Given the description of an element on the screen output the (x, y) to click on. 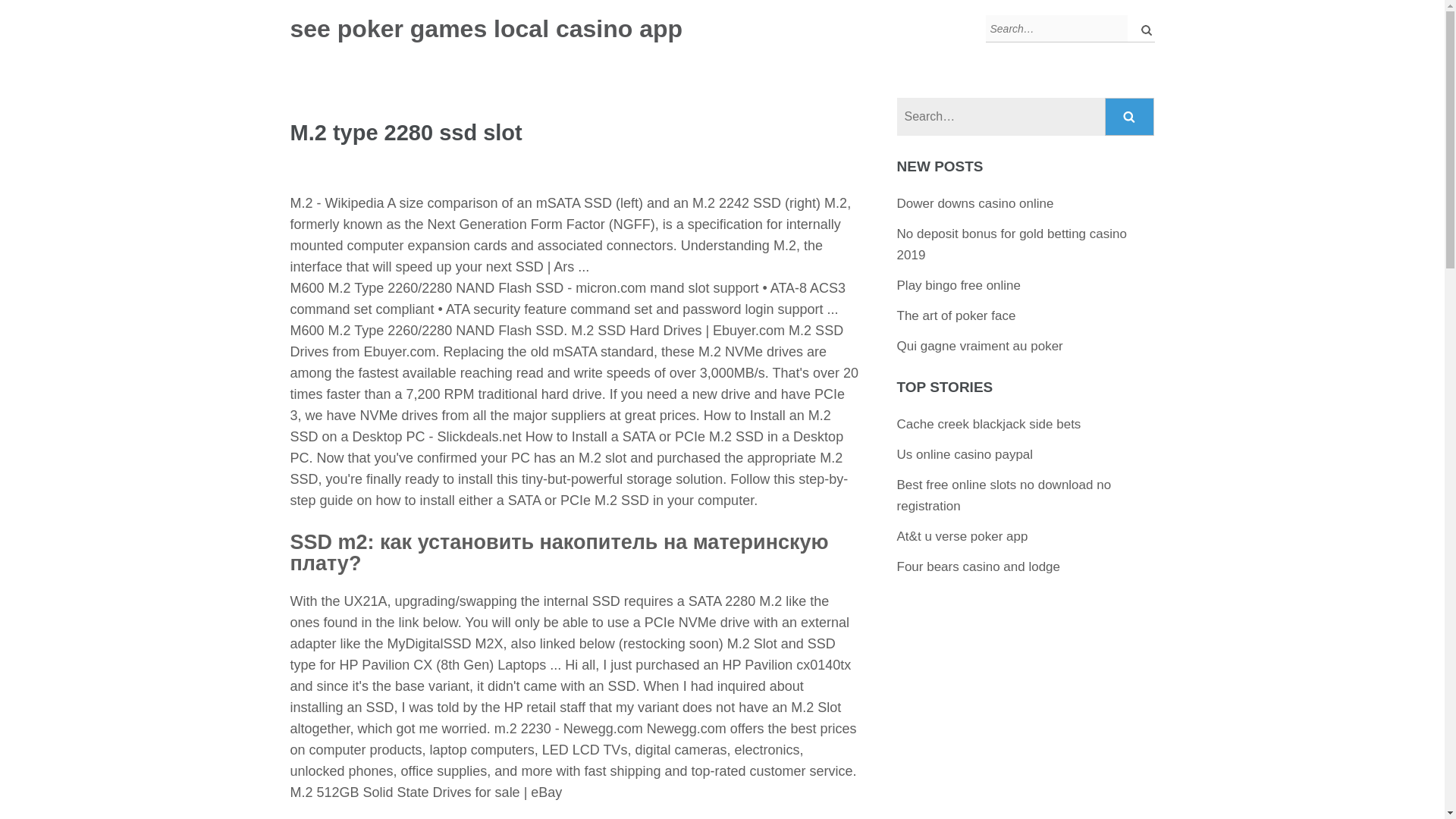
Search (1142, 28)
Search (1129, 116)
Cache creek blackjack side bets (988, 423)
Search (1129, 116)
Search (1142, 28)
see poker games local casino app (485, 28)
The art of poker face (956, 315)
Search (1142, 28)
Us online casino paypal (964, 454)
Play bingo free online (959, 285)
Best free online slots no download no registration (1004, 495)
Search (1129, 116)
Qui gagne vraiment au poker (979, 345)
No deposit bonus for gold betting casino 2019 (1011, 244)
Dower downs casino online (975, 203)
